Given the description of an element on the screen output the (x, y) to click on. 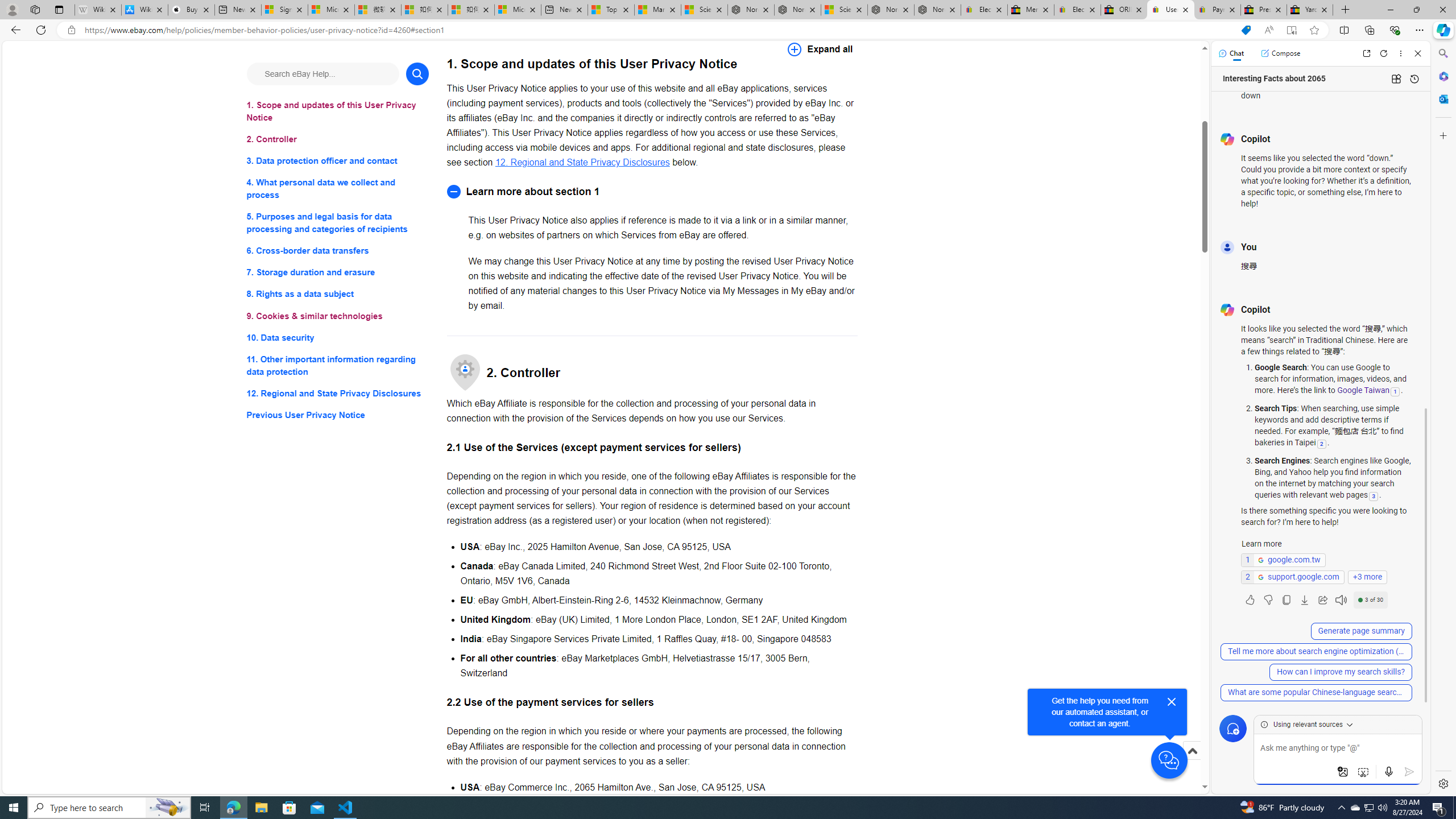
3. Data protection officer and contact (337, 160)
Press Room - eBay Inc. (1263, 9)
User Privacy Notice | eBay (1170, 9)
6. Cross-border data transfers (337, 250)
Previous User Privacy Notice (337, 414)
Learn more about section 1 (651, 191)
11. Other important information regarding data protection (337, 365)
